Given the description of an element on the screen output the (x, y) to click on. 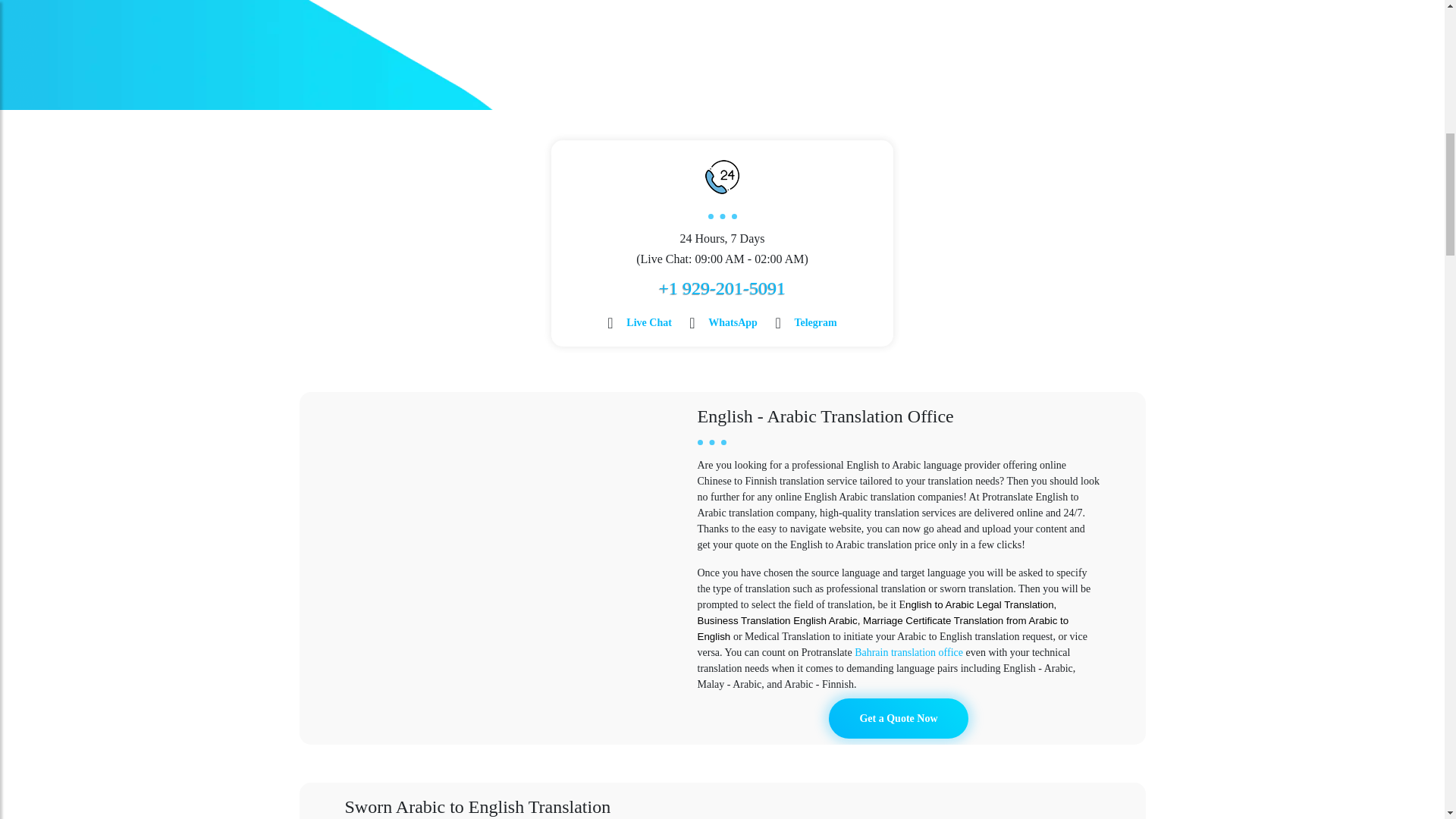
WhatsApp (732, 322)
Live Chat (648, 322)
Get a Quote Now (898, 718)
Bahrain translation office (908, 652)
Telegram (814, 322)
